Given the description of an element on the screen output the (x, y) to click on. 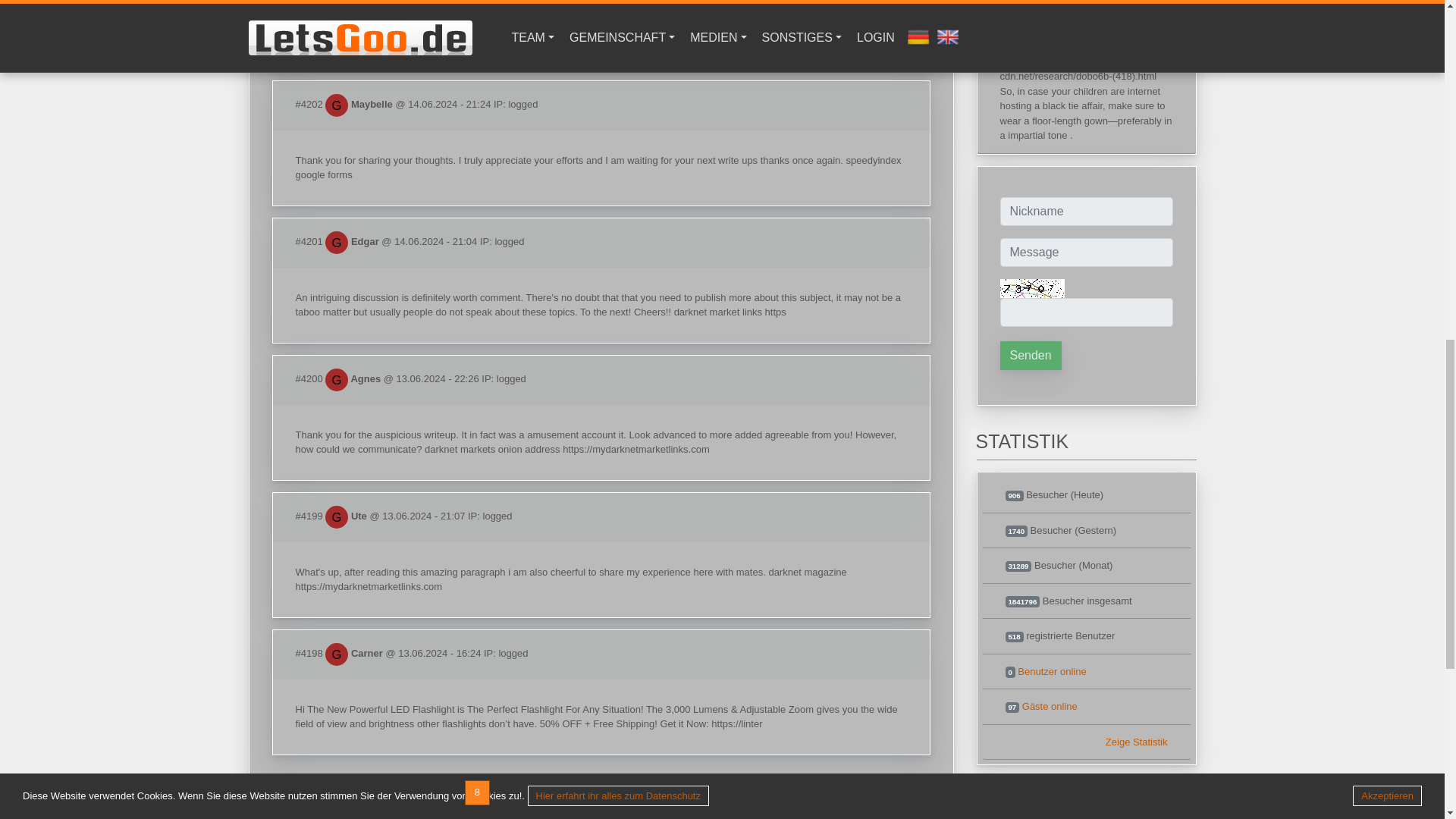
5 (393, 792)
... (337, 792)
4 (365, 792)
